Given the description of an element on the screen output the (x, y) to click on. 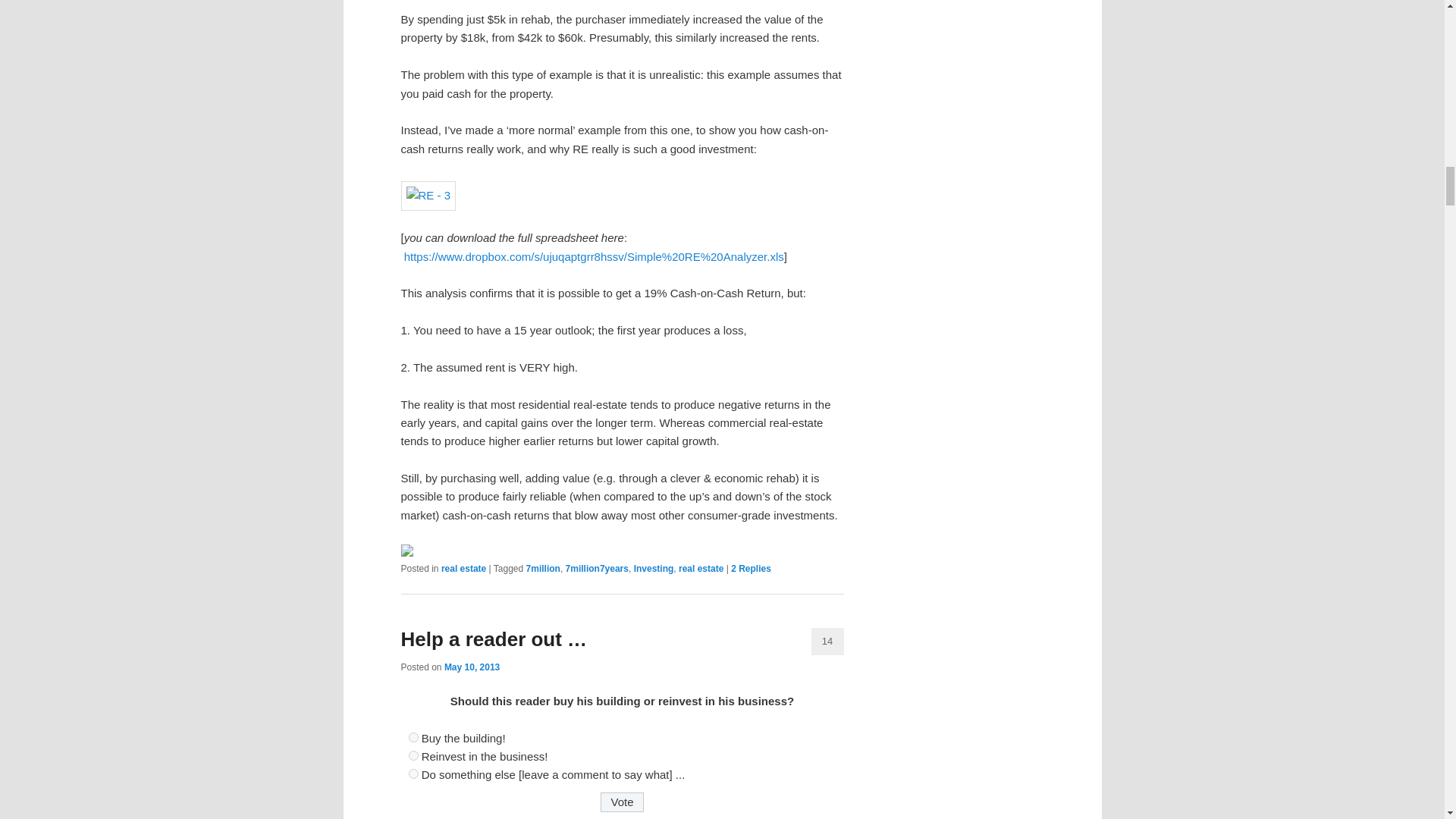
59 (412, 773)
57 (412, 737)
11:13 pm (471, 665)
7million7years (597, 568)
   Vote    (621, 802)
Investing (653, 568)
real estate (700, 568)
2 Replies (750, 568)
real estate (463, 568)
58 (412, 755)
